Given the description of an element on the screen output the (x, y) to click on. 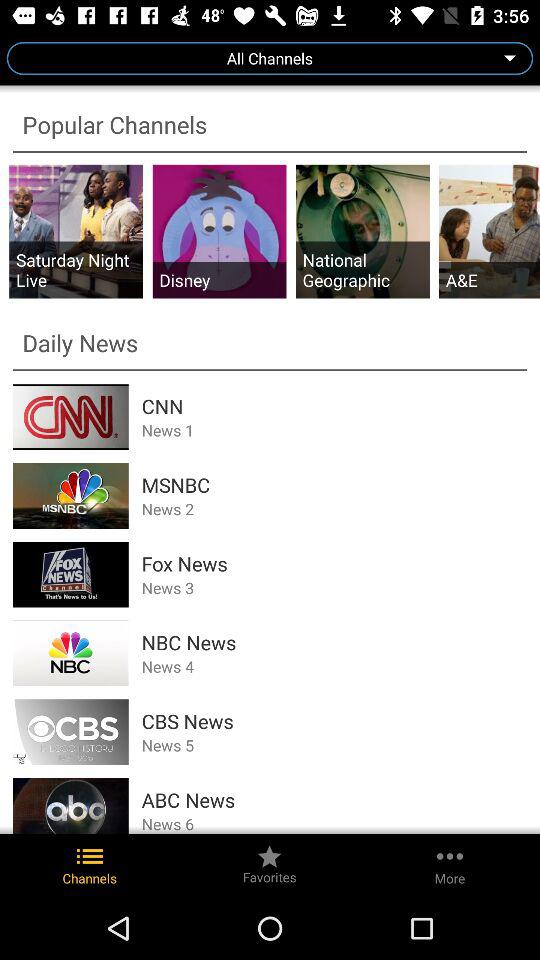
choose the icon above news 1 item (333, 406)
